Given the description of an element on the screen output the (x, y) to click on. 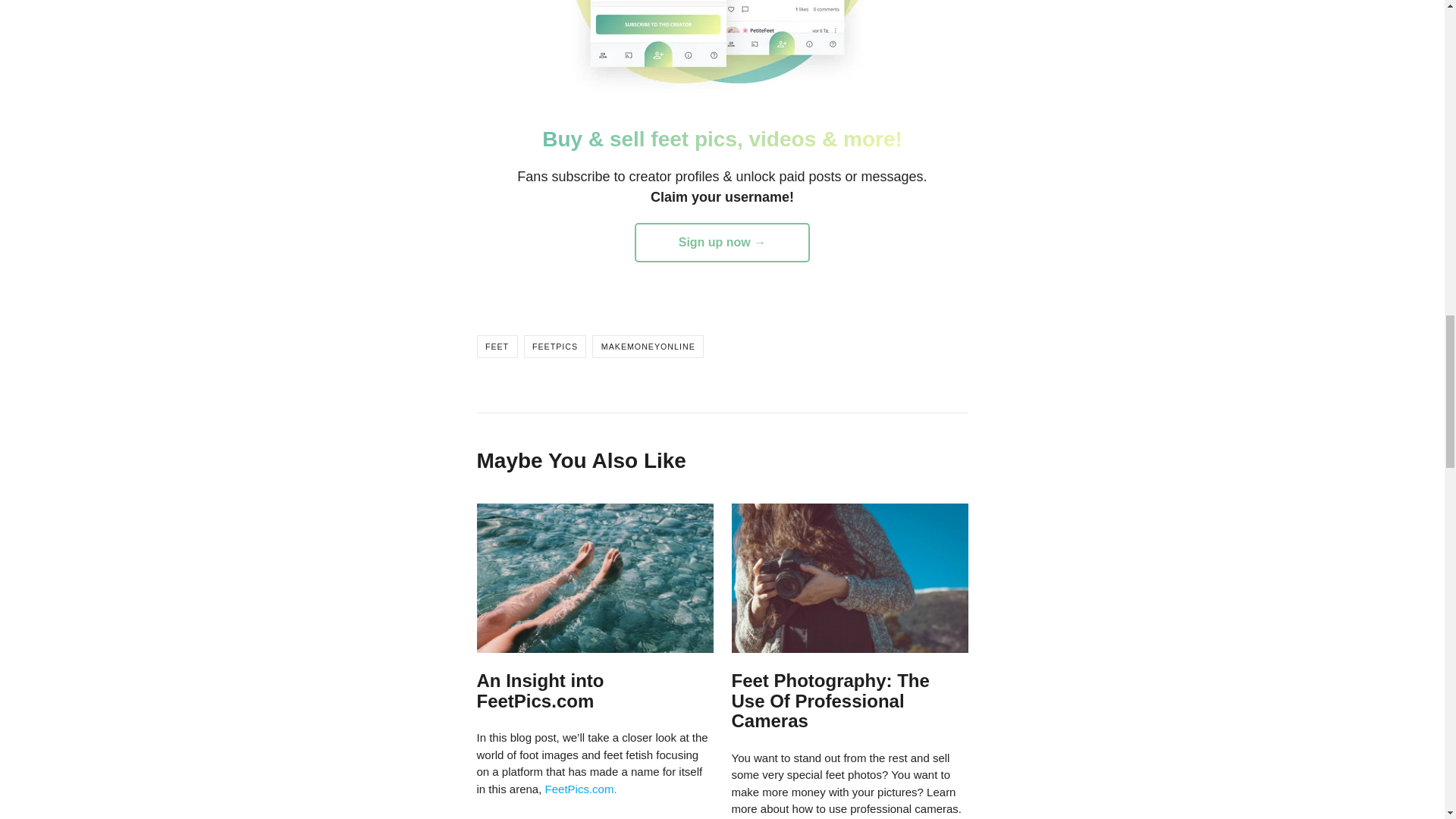
FEET (496, 345)
Feet Photography: The Use Of Professional Cameras (829, 700)
FEETPICS (555, 345)
MAKEMONEYONLINE (647, 345)
An Insight into FeetPics.com (540, 690)
FeetPics.com. (580, 788)
